Given the description of an element on the screen output the (x, y) to click on. 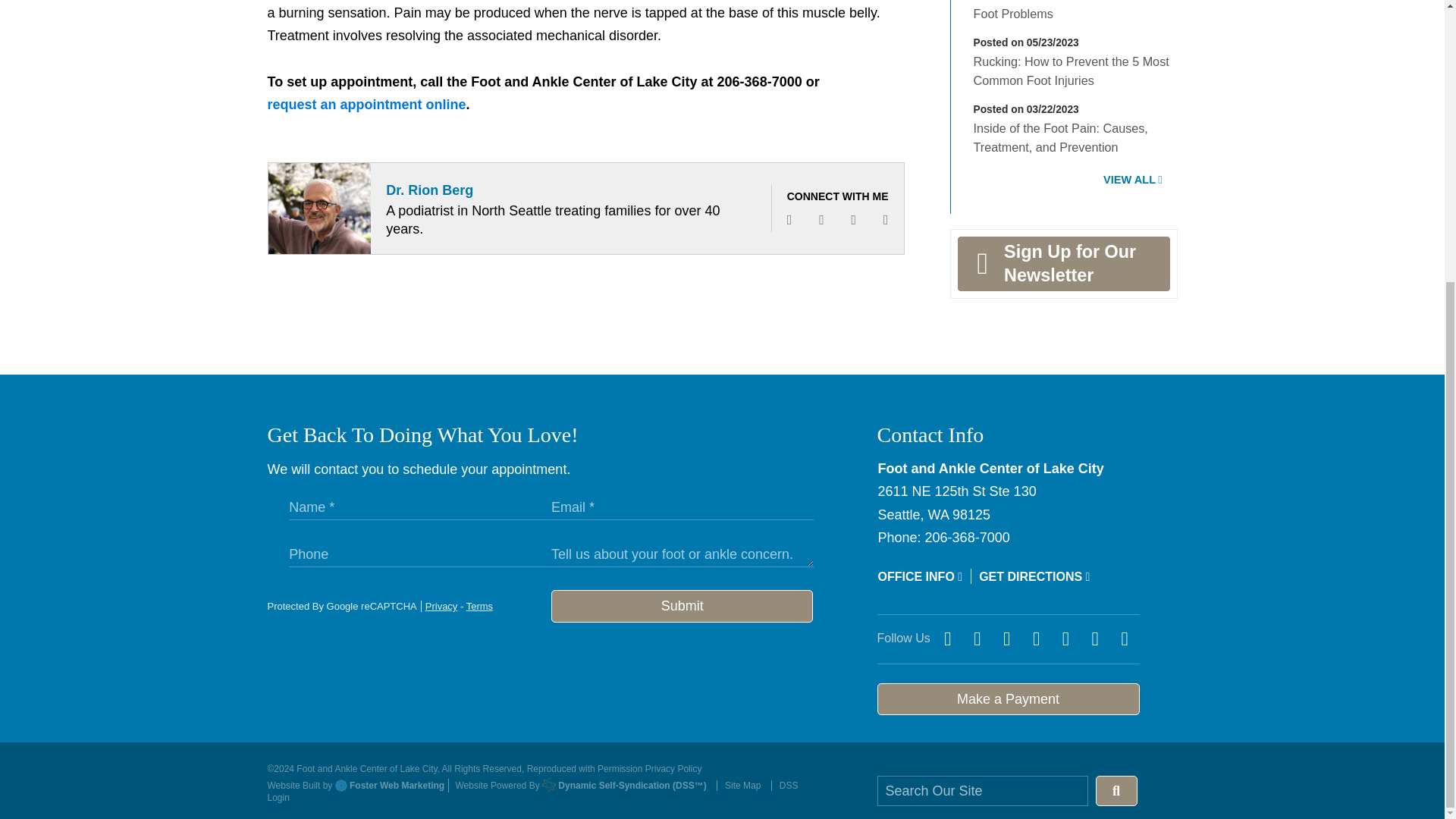
Search (1116, 790)
